Given the description of an element on the screen output the (x, y) to click on. 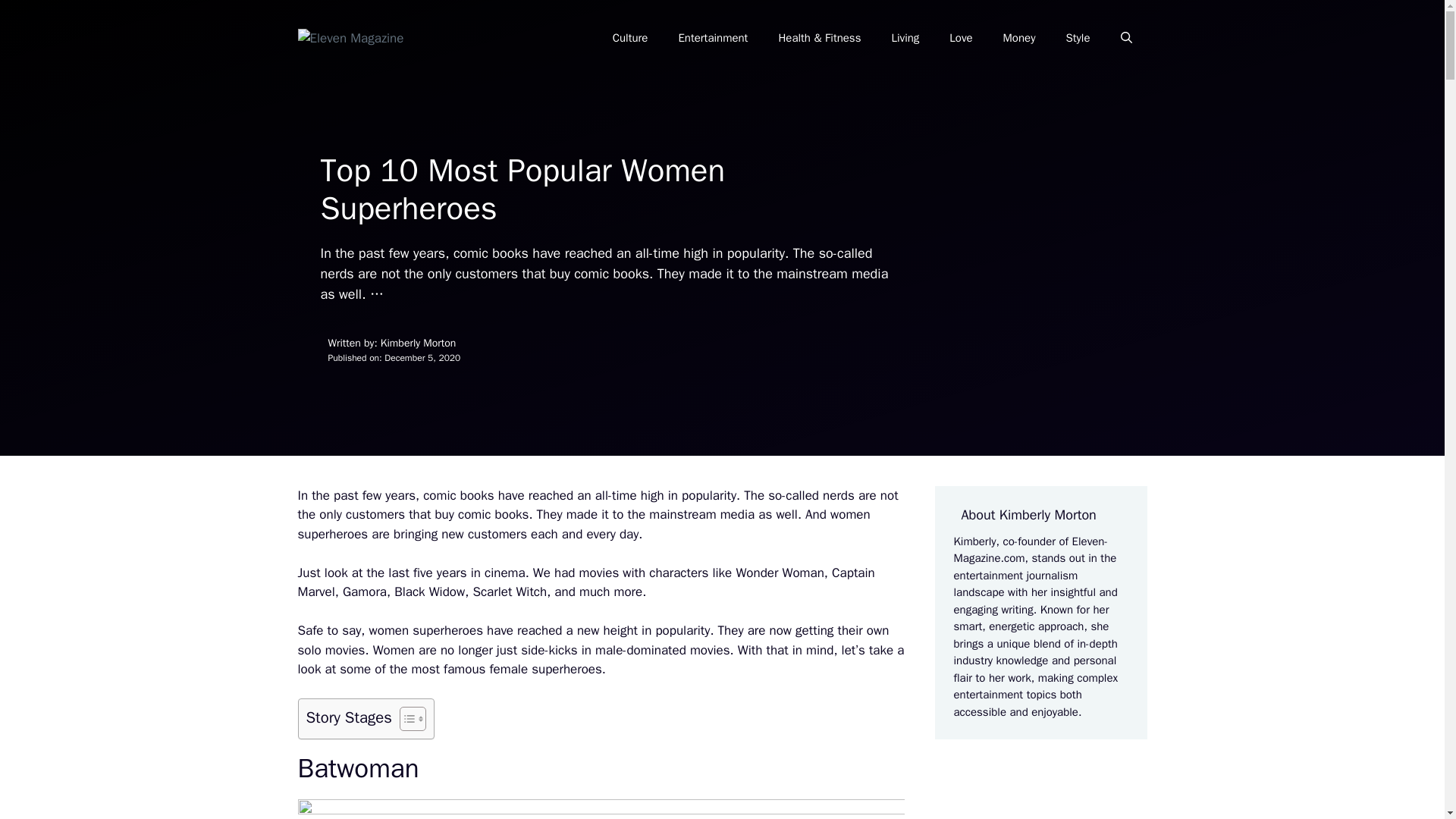
Living (905, 37)
Entertainment (712, 37)
Love (960, 37)
Style (1077, 37)
Culture (629, 37)
Money (1019, 37)
